Given the description of an element on the screen output the (x, y) to click on. 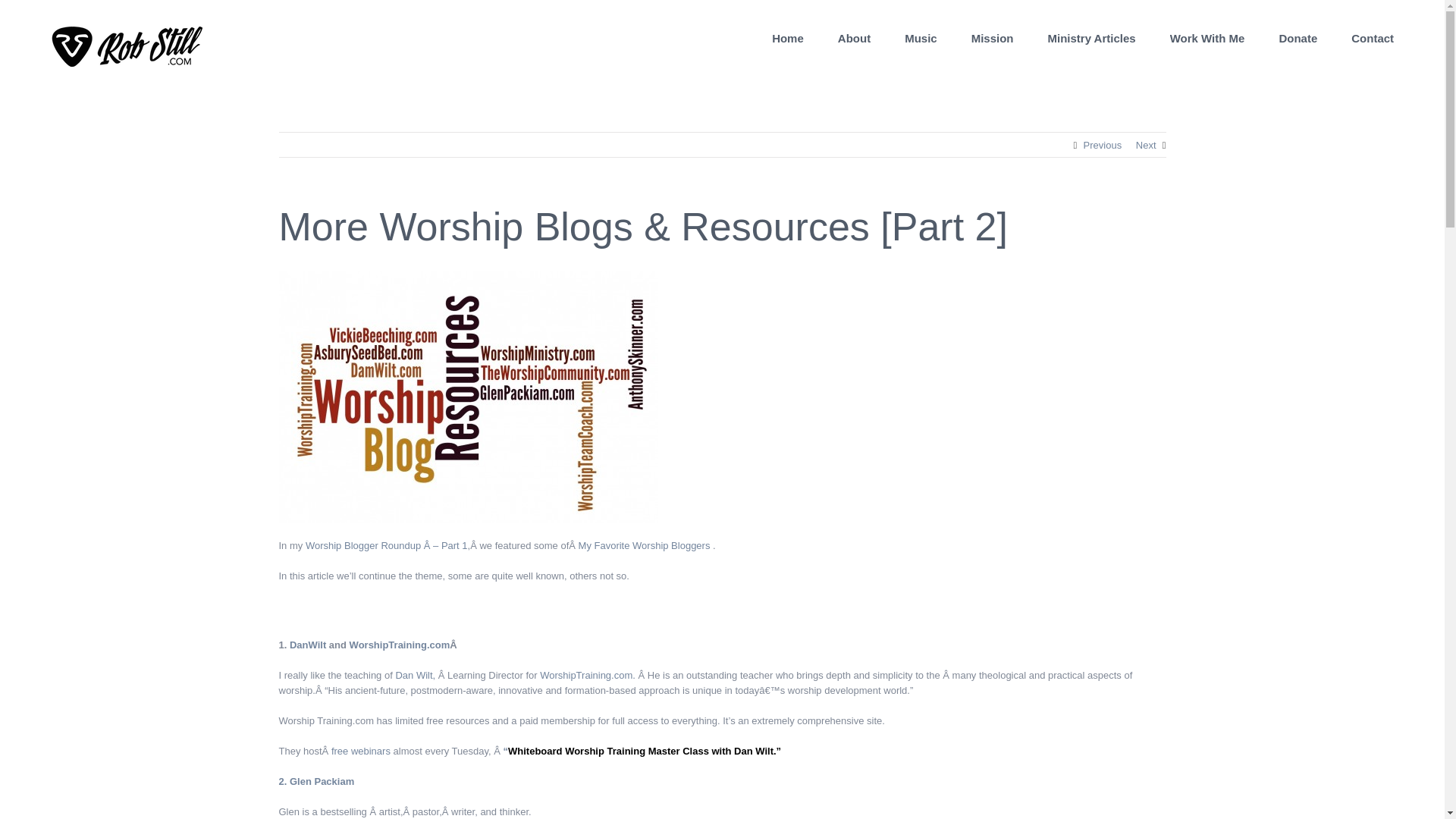
WorshipTraining.com (399, 644)
DanWilt (309, 644)
Dan Wilt, (414, 674)
Worship Blogs 2 (468, 397)
WorshipTraining.com. (587, 674)
Work With Me (1207, 38)
Previous (1102, 145)
My Favorite Worship Bloggers (645, 545)
free webinars (362, 750)
2. Glen Packiam (317, 781)
Ministry Articles (1091, 38)
